Given the description of an element on the screen output the (x, y) to click on. 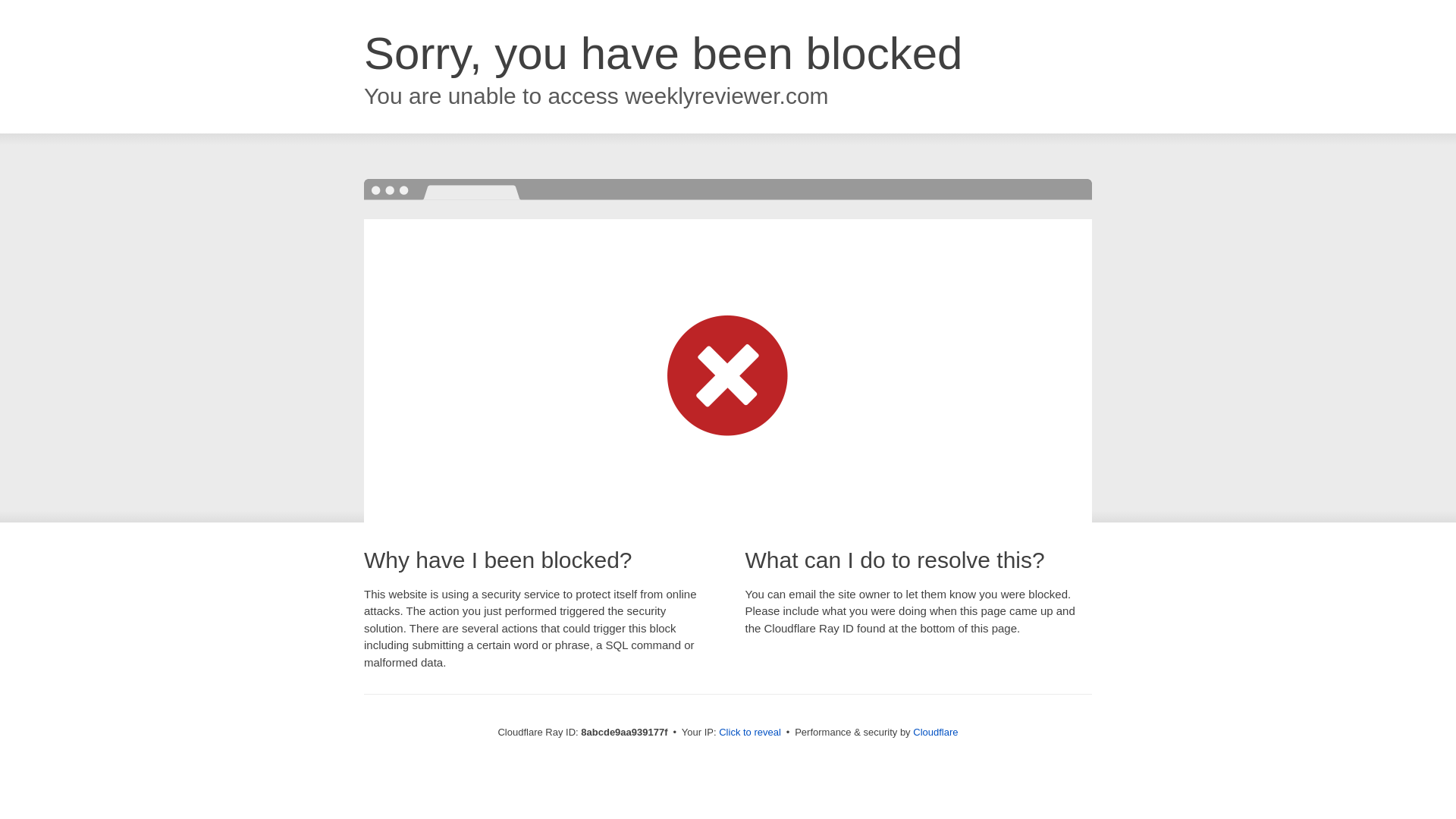
Cloudflare (935, 731)
Click to reveal (749, 732)
